Given the description of an element on the screen output the (x, y) to click on. 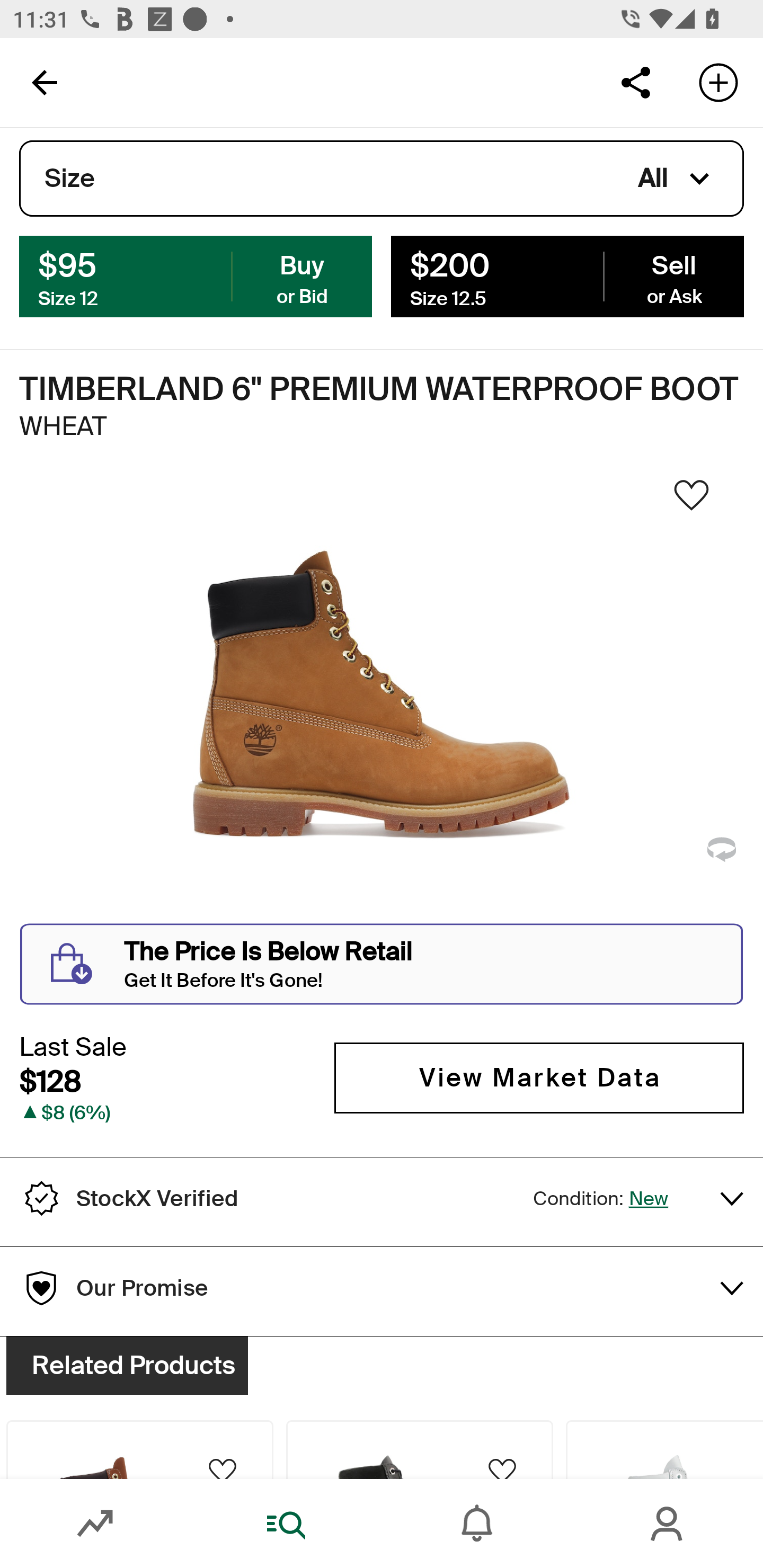
Share (635, 81)
Add (718, 81)
Size All (381, 178)
$95 Buy Size 12 or Bid (195, 275)
$200 Sell Size 12.5 or Ask (566, 275)
Sneaker Image (381, 699)
View Market Data (538, 1077)
Market (95, 1523)
Inbox (476, 1523)
Account (667, 1523)
